Given the description of an element on the screen output the (x, y) to click on. 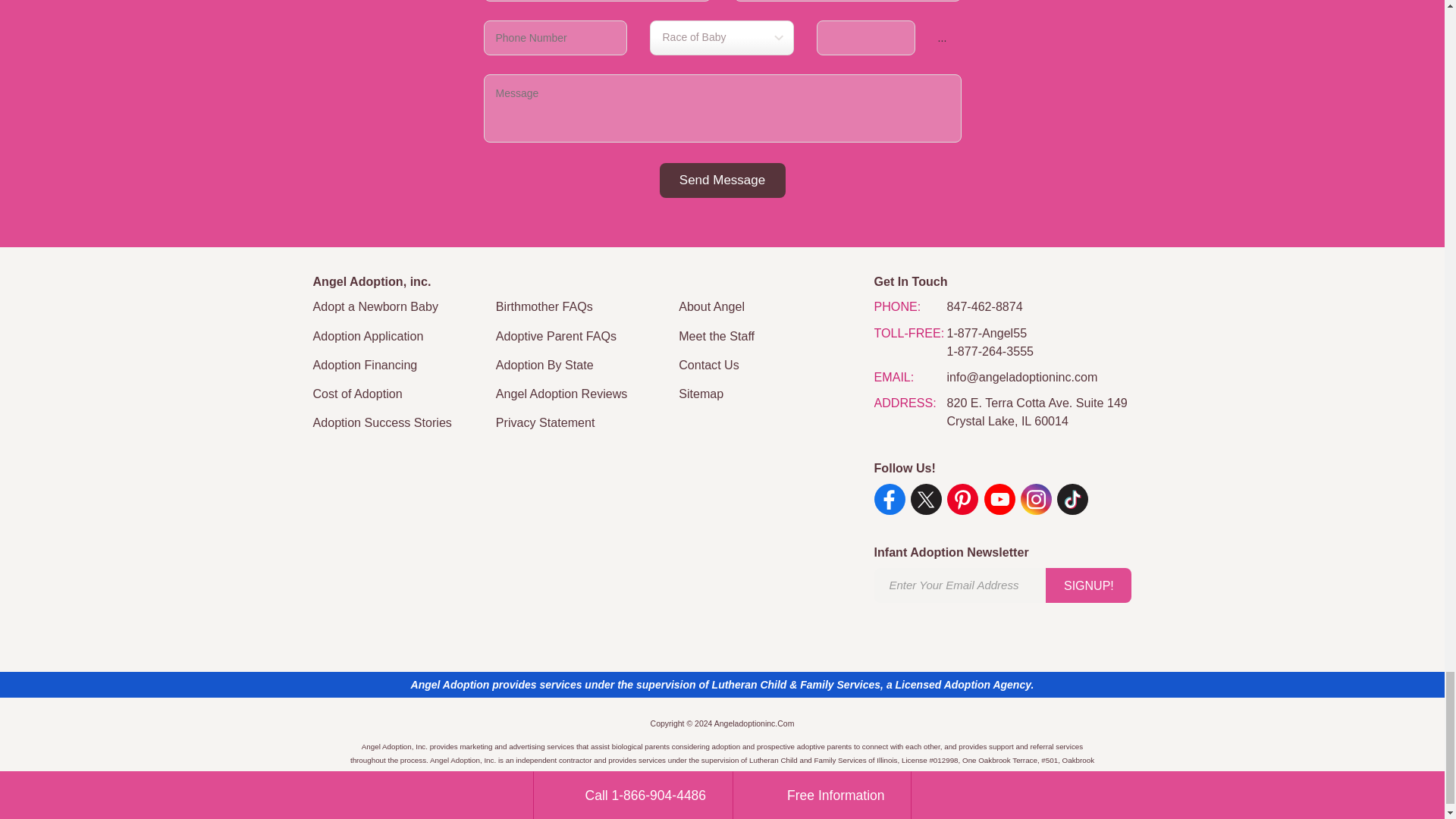
Send Message (722, 180)
signup! (1088, 585)
